Given the description of an element on the screen output the (x, y) to click on. 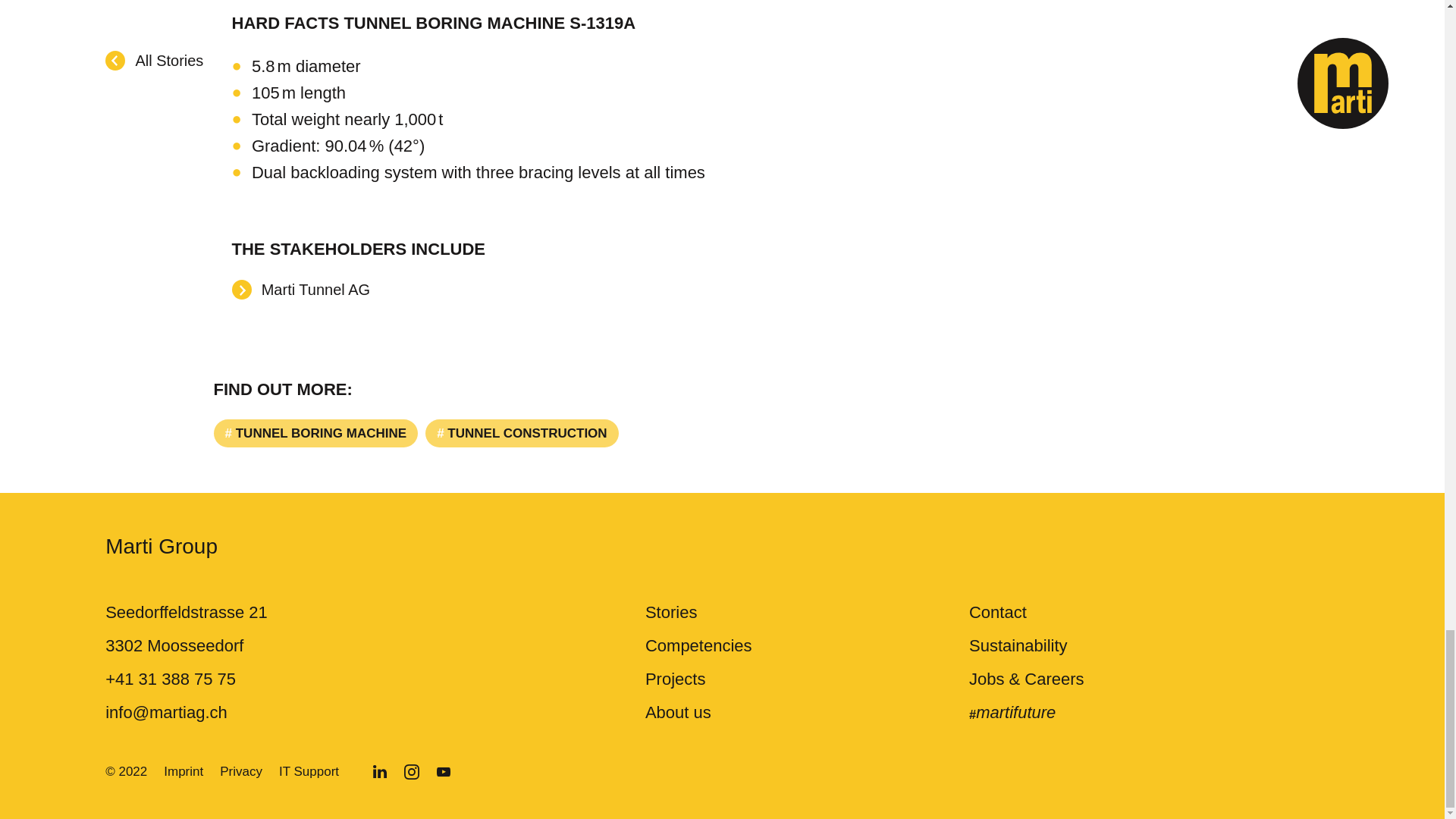
Marti Tunnel AG (300, 289)
TUNNEL BORING MACHINE (316, 433)
TUNNEL CONSTRUCTION (521, 433)
